Given the description of an element on the screen output the (x, y) to click on. 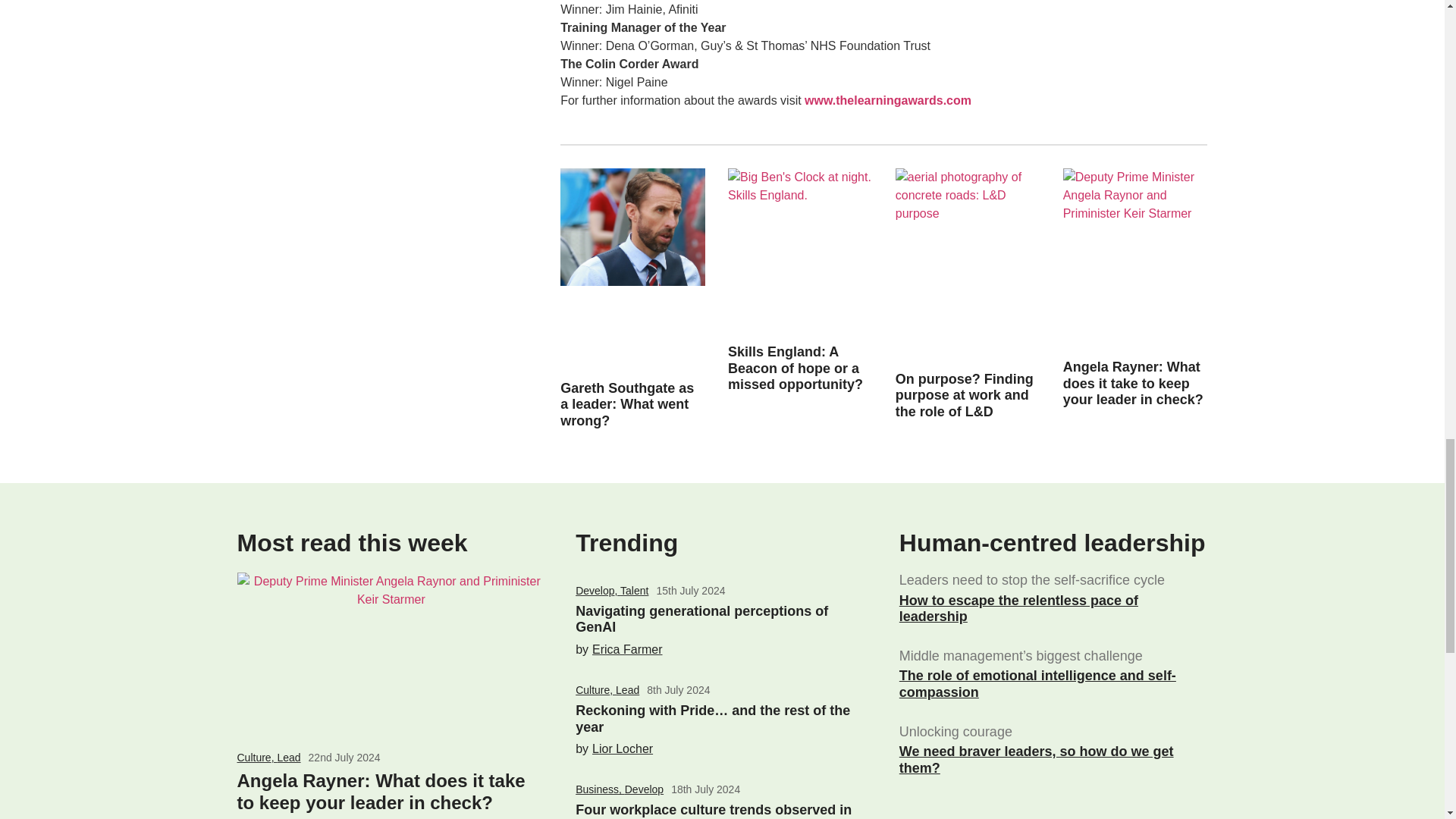
www.thelearningawards.com (888, 100)
